Given the description of an element on the screen output the (x, y) to click on. 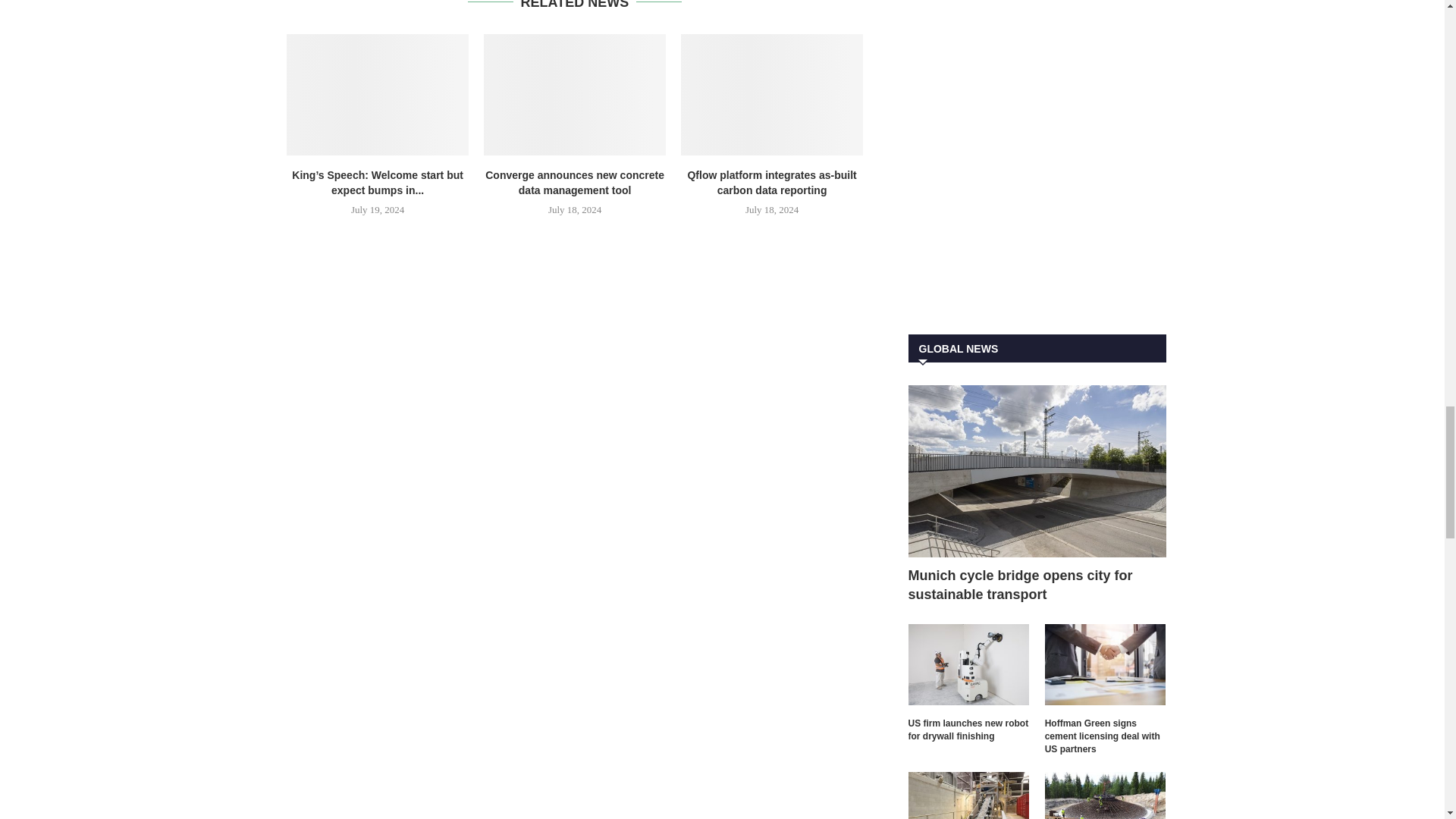
Munich cycle bridge opens city for sustainable transport (1037, 585)
Converge announces new concrete data management tool (574, 94)
Munich cycle bridge opens city for sustainable transport (1037, 470)
Qflow platform integrates as-built carbon data reporting (772, 94)
